Given the description of an element on the screen output the (x, y) to click on. 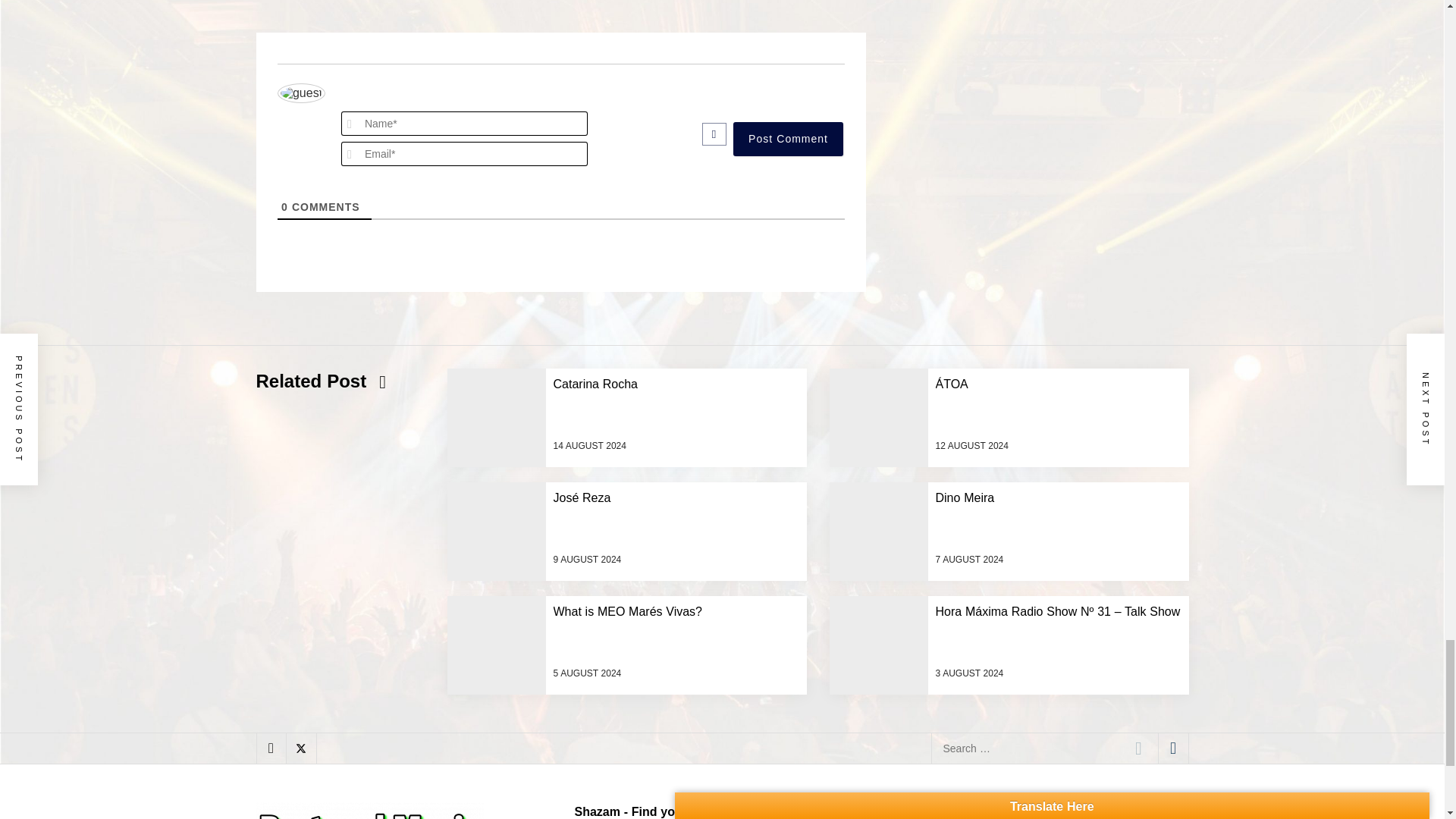
Post Comment (788, 139)
Search (1138, 748)
Search (1138, 748)
